Given the description of an element on the screen output the (x, y) to click on. 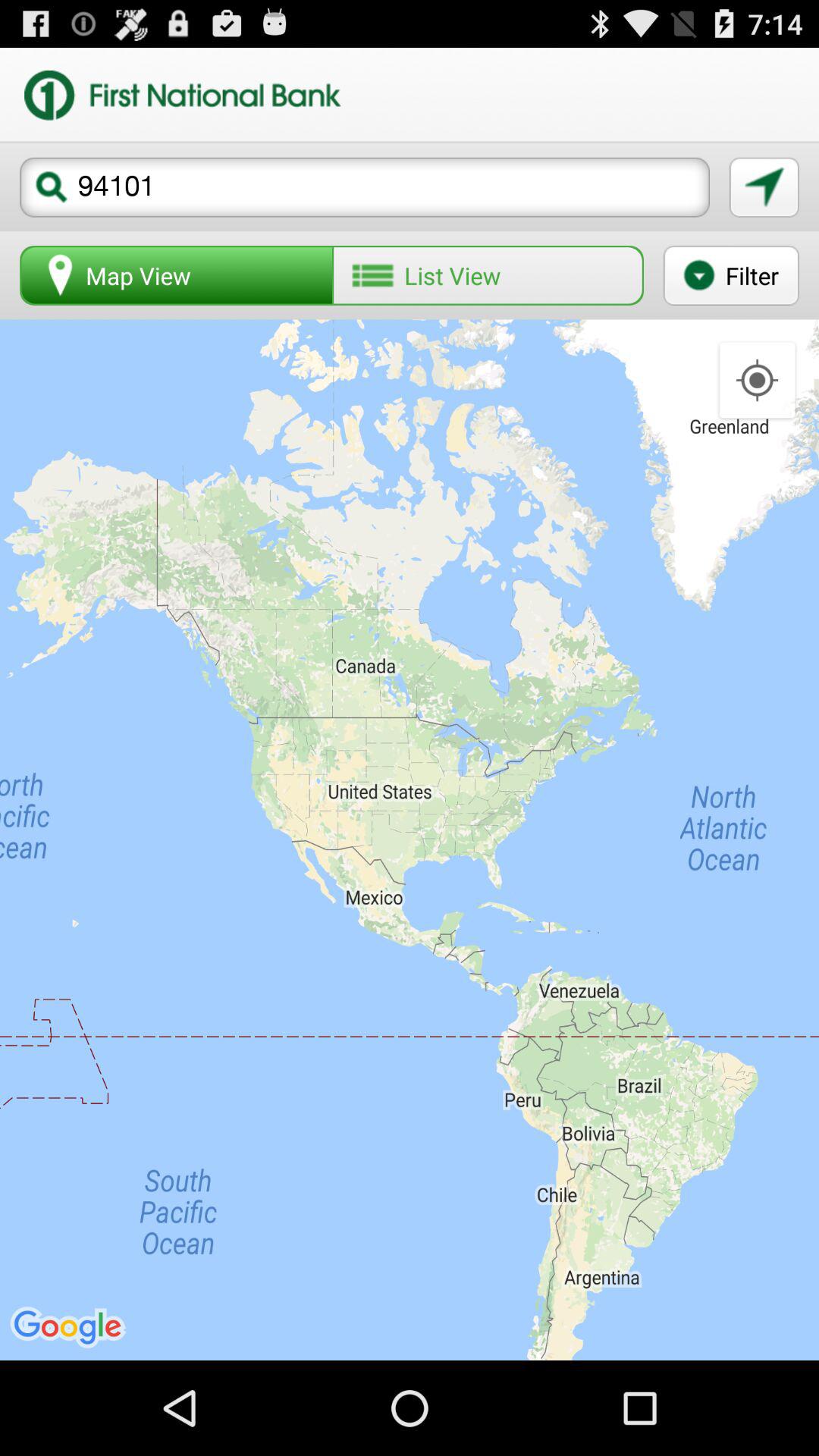
turn on the icon above filter (764, 187)
